Given the description of an element on the screen output the (x, y) to click on. 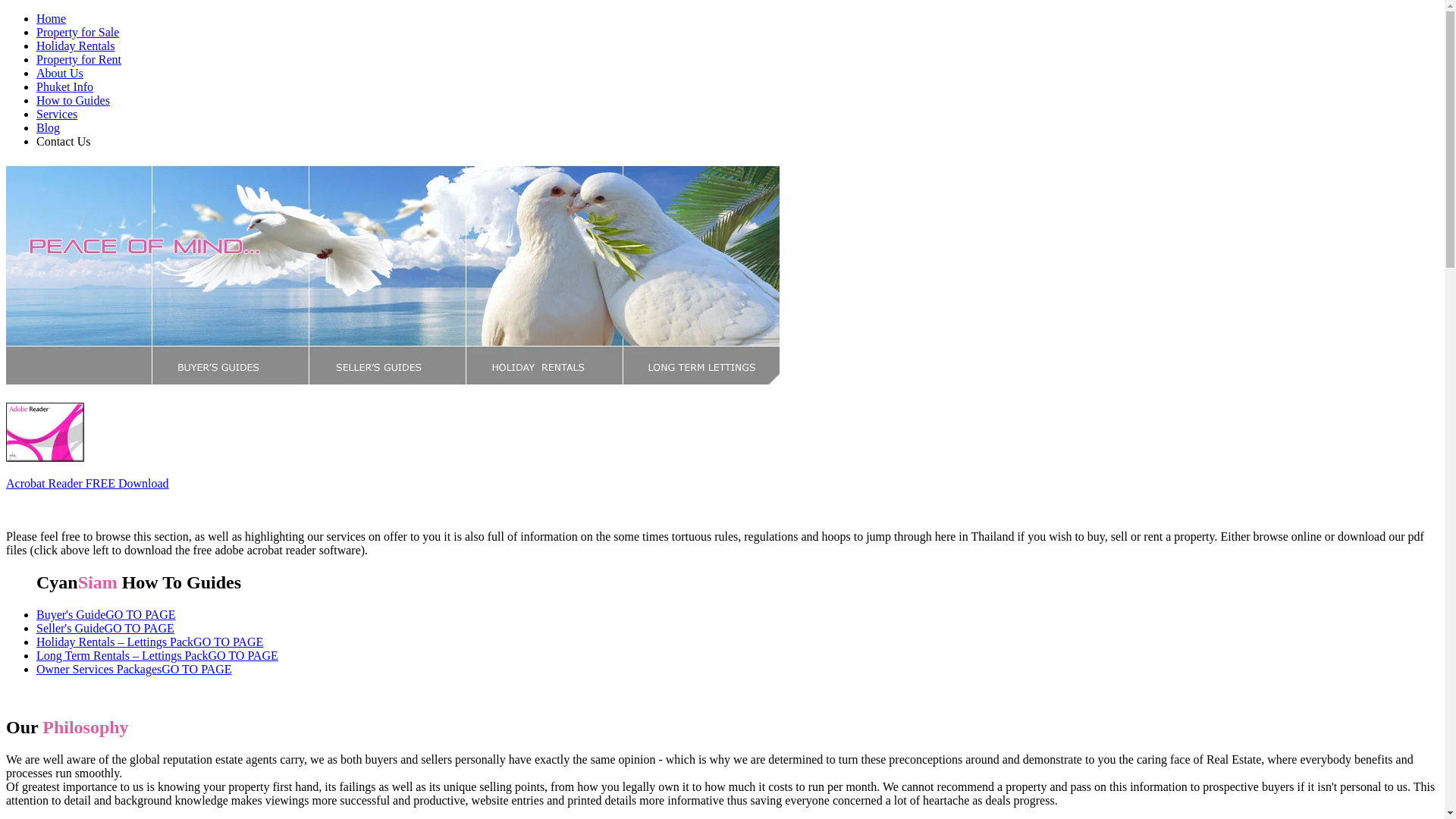
Property for Sale (77, 31)
About Us (59, 72)
Home (50, 18)
Seller's GuideGO TO PAGE (105, 627)
Blog (47, 127)
Buyer's GuideGO TO PAGE (105, 614)
Holiday Rentals (75, 45)
Phuket Info (64, 86)
Owner Services PackagesGO TO PAGE (133, 668)
Services (56, 113)
Contact Us (63, 141)
Property for Rent (78, 59)
How to Guides (73, 100)
